Given the description of an element on the screen output the (x, y) to click on. 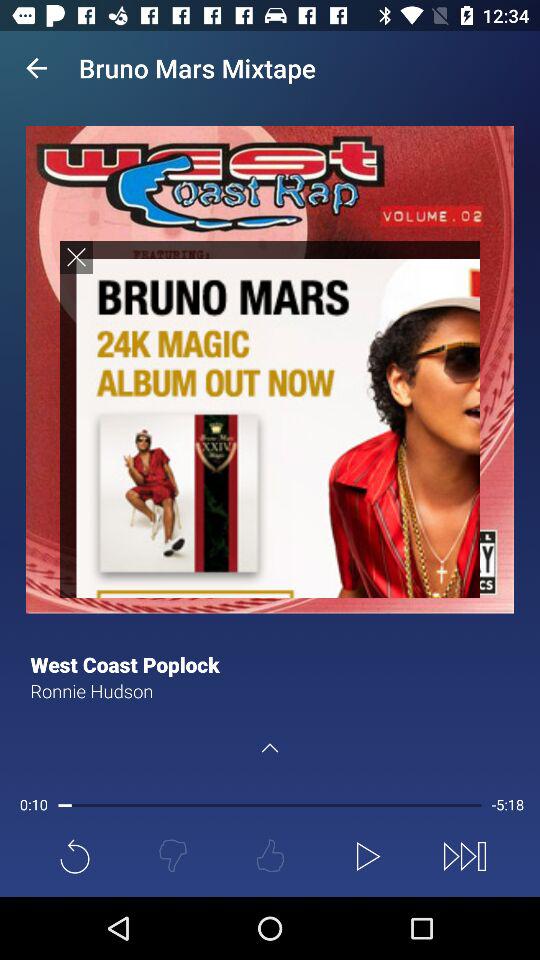
click on the play icon (367, 856)
select the cross icon on the image (75, 256)
click on the fast forward icon (464, 856)
select the reload icon at the bottom left (74, 856)
dislike (172, 856)
